Given the description of an element on the screen output the (x, y) to click on. 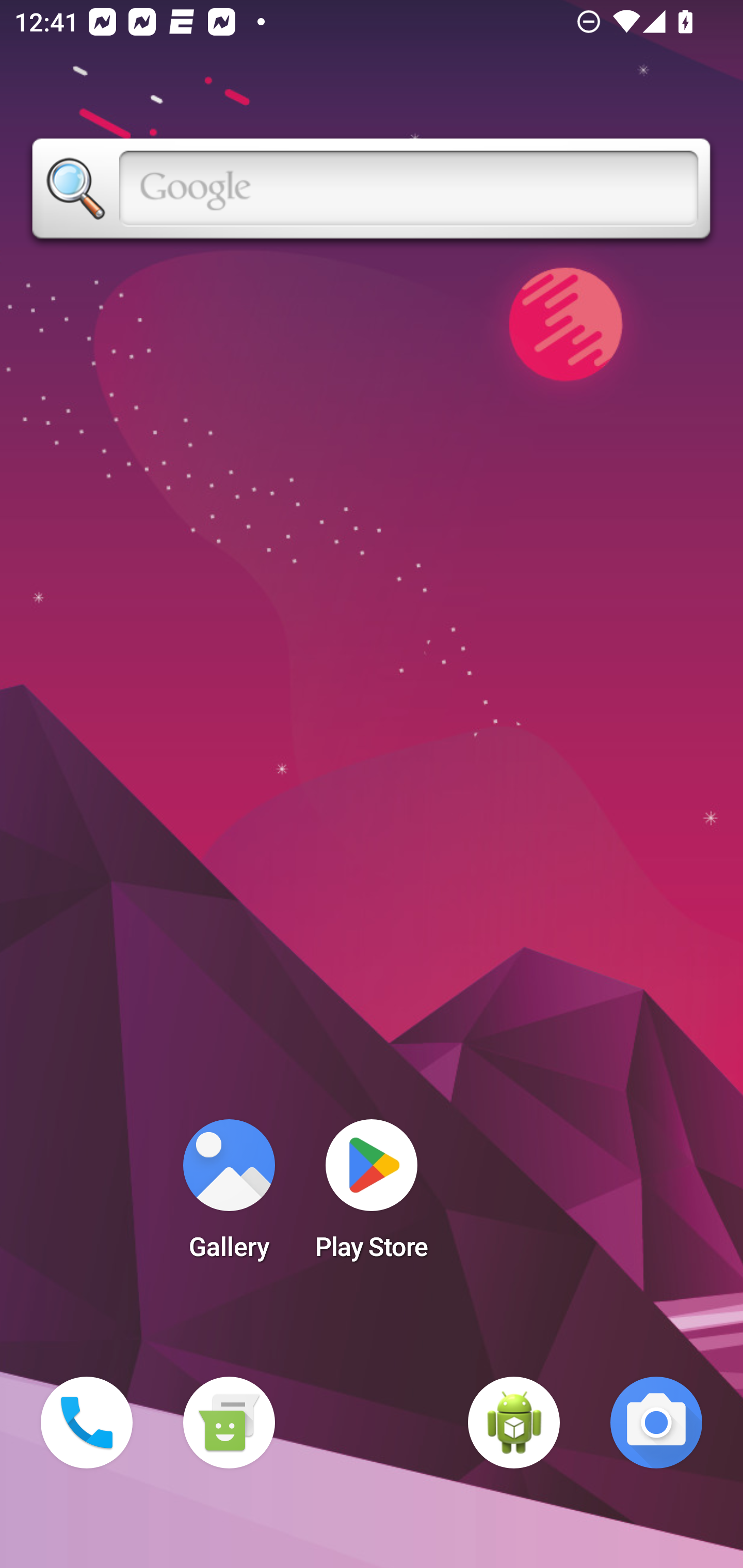
Gallery (228, 1195)
Play Store (371, 1195)
Phone (86, 1422)
Messaging (228, 1422)
WebView Browser Tester (513, 1422)
Camera (656, 1422)
